Given the description of an element on the screen output the (x, y) to click on. 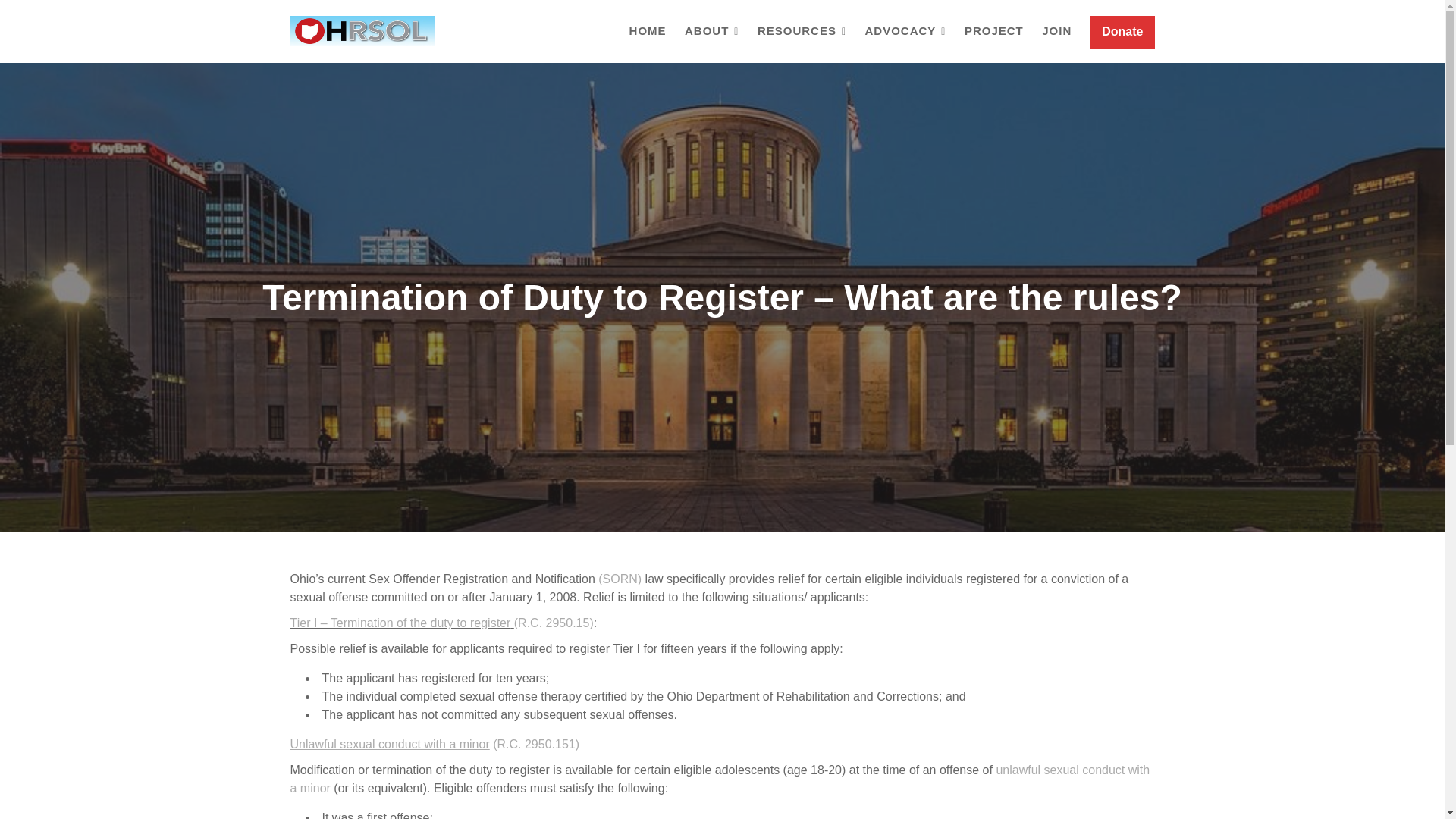
PROJECT (993, 30)
ADVOCACY (905, 31)
Donate (1122, 31)
RESOURCES (801, 31)
ABOUT (711, 31)
